Given the description of an element on the screen output the (x, y) to click on. 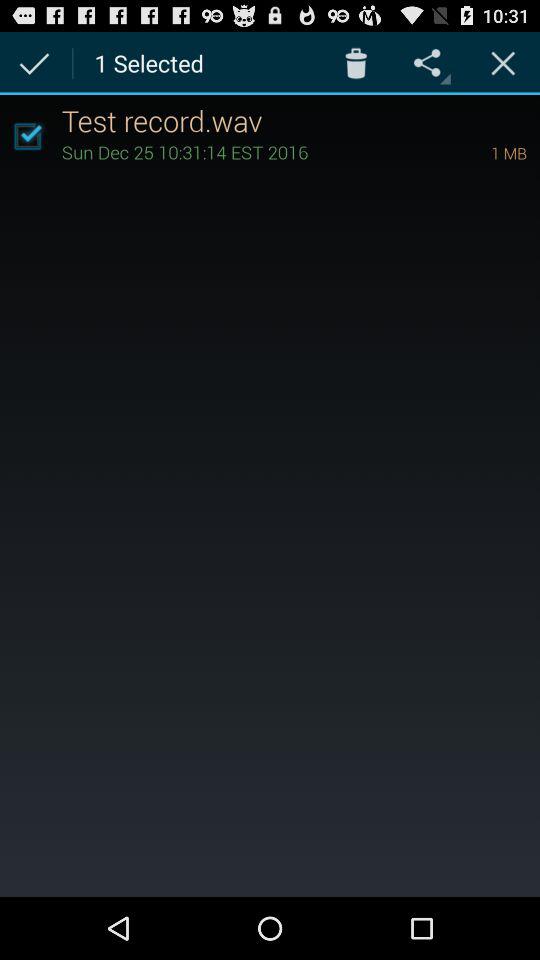
jump to the test record.wav (300, 120)
